Given the description of an element on the screen output the (x, y) to click on. 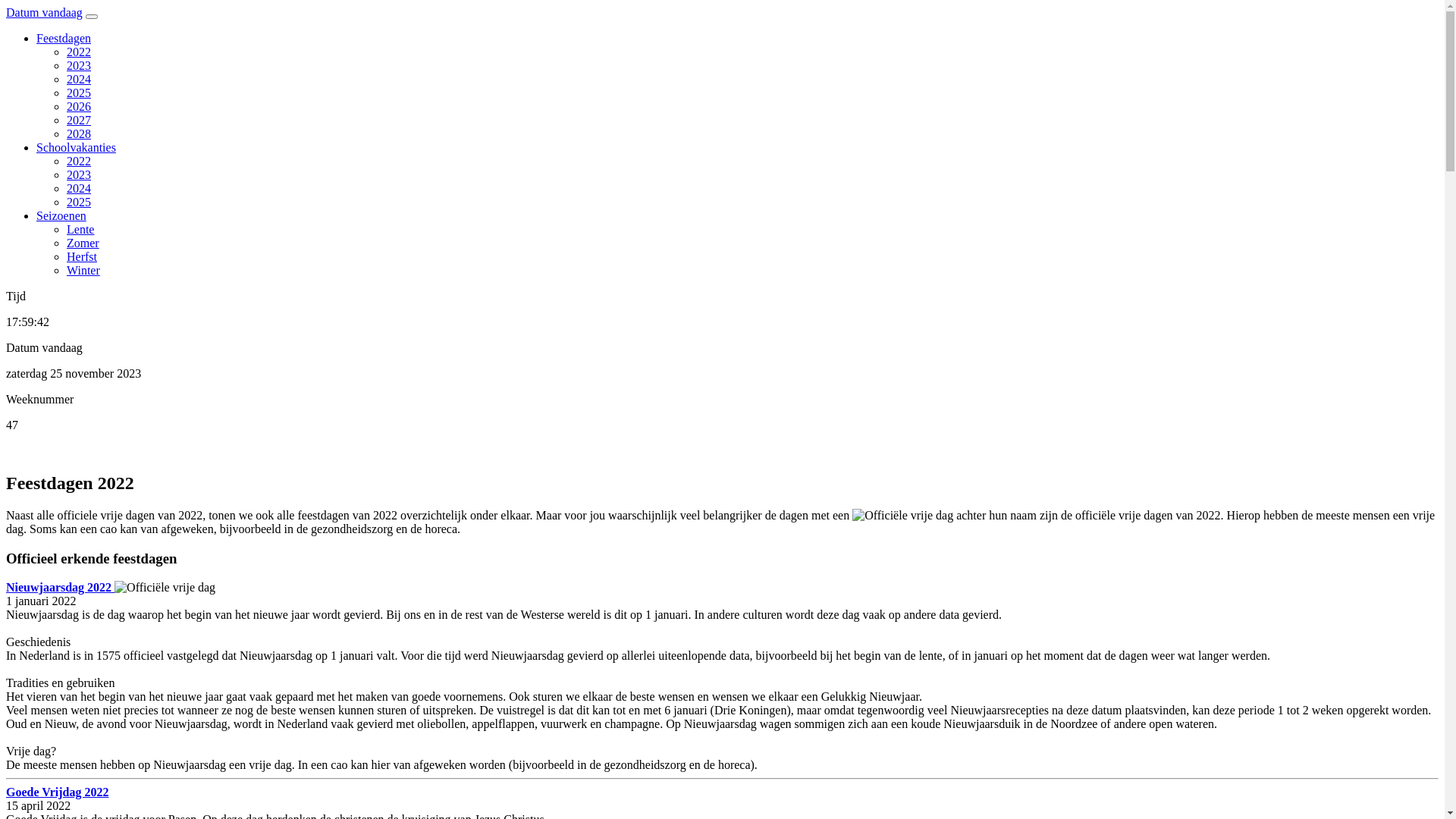
Feestdagen Element type: text (63, 37)
2025 Element type: text (78, 201)
2028 Element type: text (78, 133)
2023 Element type: text (78, 174)
2022 Element type: text (78, 160)
Datum vandaag Element type: text (44, 12)
2023 Element type: text (78, 65)
2026 Element type: text (78, 106)
Seizoenen Element type: text (61, 215)
Lente Element type: text (80, 228)
2027 Element type: text (78, 119)
2022 Element type: text (78, 51)
Zomer Element type: text (82, 242)
2025 Element type: text (78, 92)
Goede Vrijdag 2022 Element type: text (57, 791)
Nieuwjaarsdag 2022 Element type: text (60, 586)
2024 Element type: text (78, 78)
Herfst Element type: text (81, 256)
2024 Element type: text (78, 188)
Winter Element type: text (83, 269)
Schoolvakanties Element type: text (76, 147)
